Given the description of an element on the screen output the (x, y) to click on. 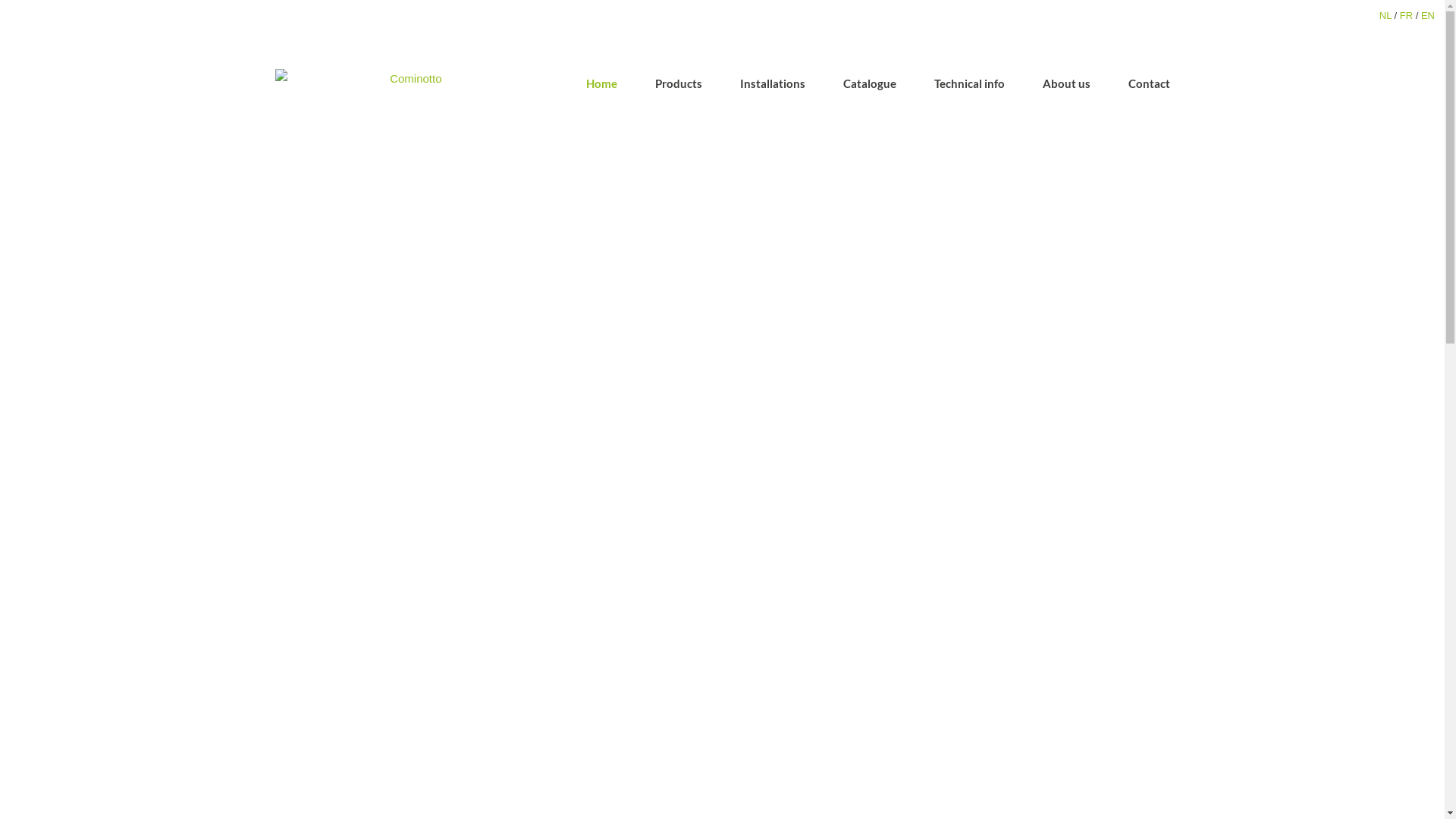
About us Element type: text (1065, 84)
EN Element type: text (1427, 14)
Contact Element type: text (1149, 84)
Catalogue Element type: text (869, 84)
FR Element type: text (1405, 14)
NL Element type: text (1385, 14)
Installations Element type: text (772, 84)
Home Element type: text (600, 84)
Technical info Element type: text (969, 84)
Products Element type: text (678, 84)
